Given the description of an element on the screen output the (x, y) to click on. 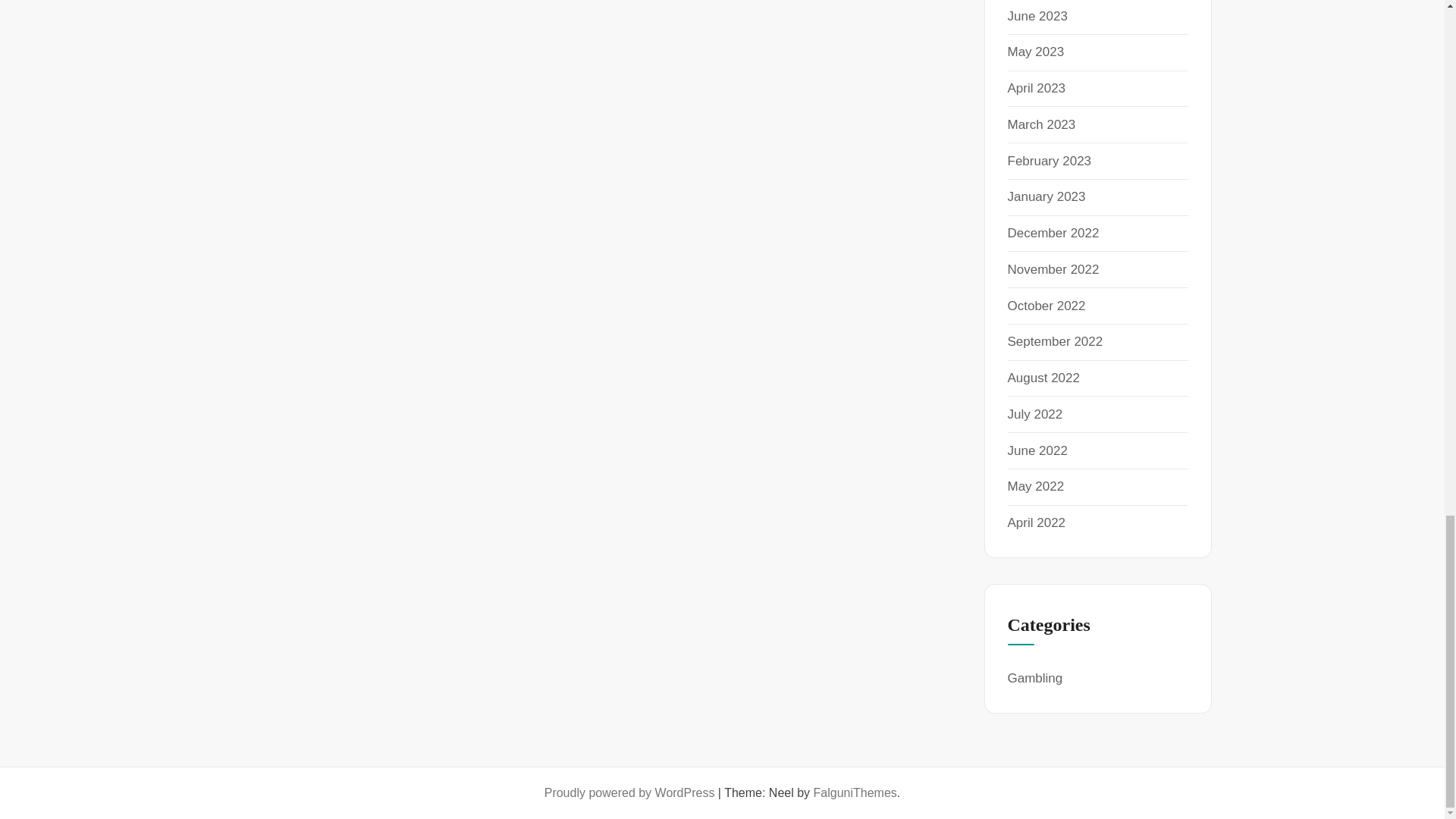
April 2023 (1036, 88)
March 2023 (1041, 124)
January 2023 (1045, 196)
June 2023 (1037, 16)
May 2023 (1035, 51)
February 2023 (1048, 160)
December 2022 (1053, 233)
